Given the description of an element on the screen output the (x, y) to click on. 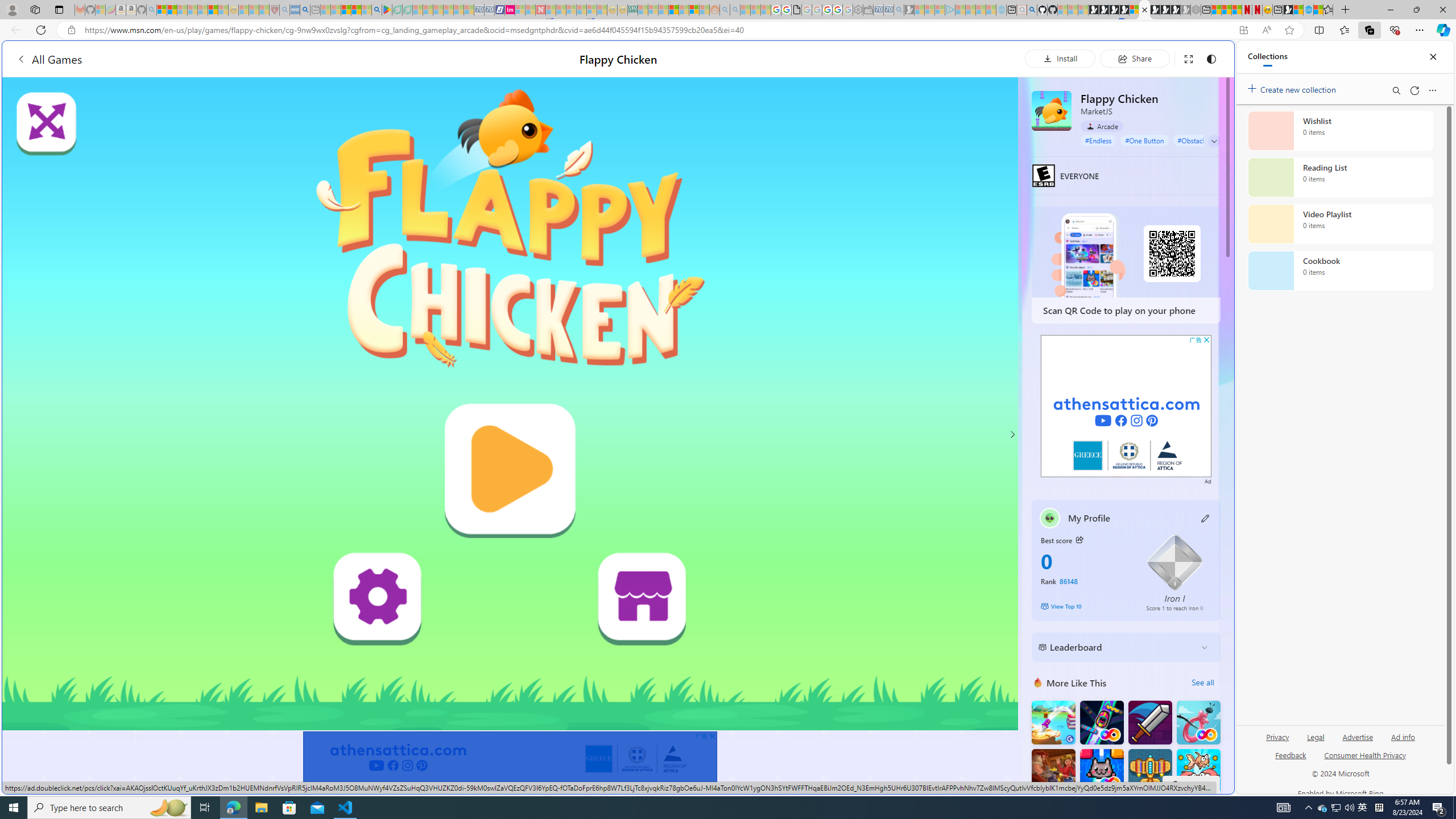
Frequently visited (965, 151)
Create new collection (1293, 87)
utah sues federal government - Search (922, 389)
utah sues federal government - Search (304, 9)
Class: button (1079, 539)
#Endless (1098, 140)
